Given the description of an element on the screen output the (x, y) to click on. 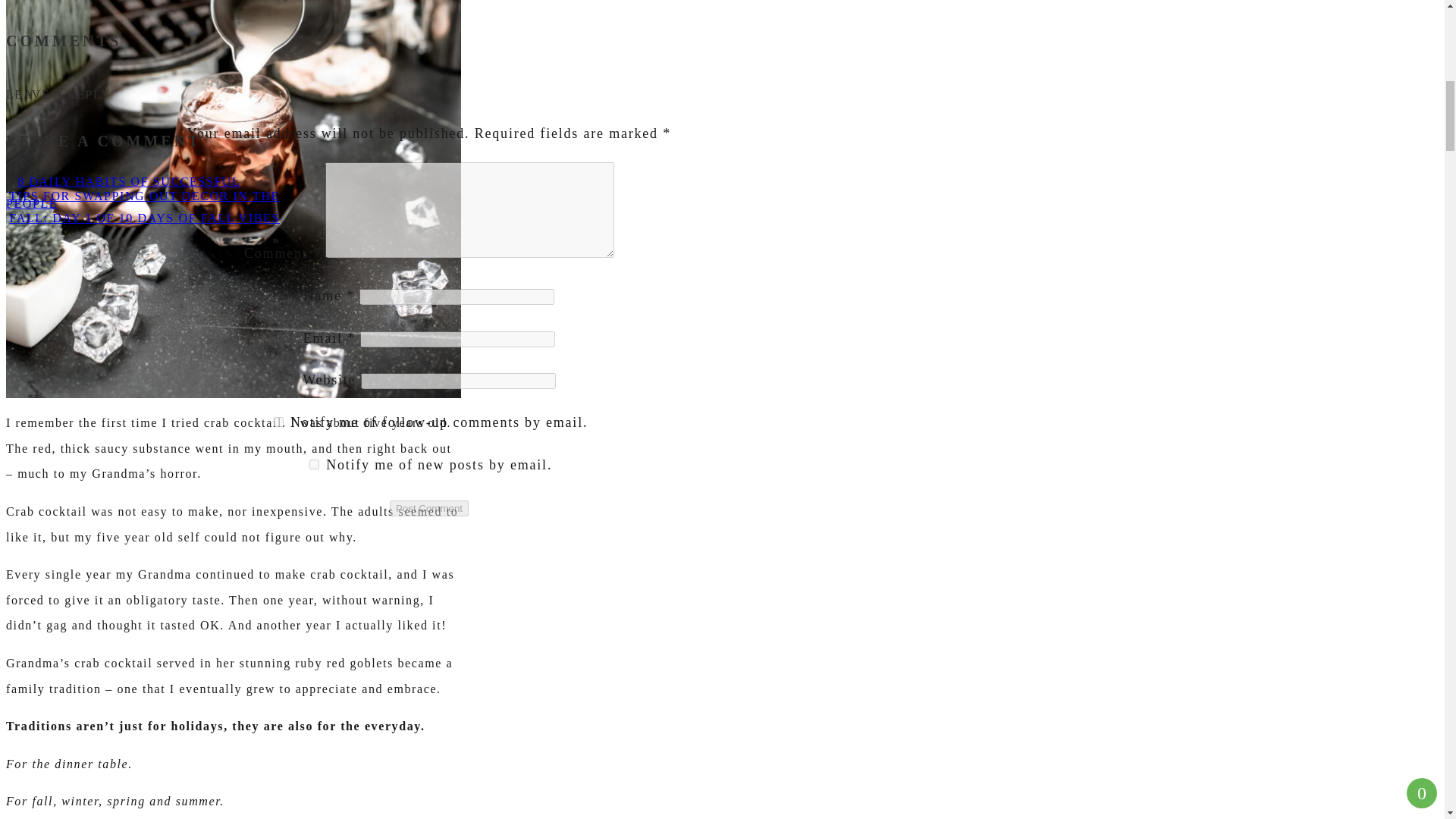
subscribe (313, 464)
8 DAILY HABITS OF SUCCESSFUL PEOPLE (122, 192)
subscribe (278, 421)
Post Comment (429, 508)
Post Comment (429, 508)
